Given the description of an element on the screen output the (x, y) to click on. 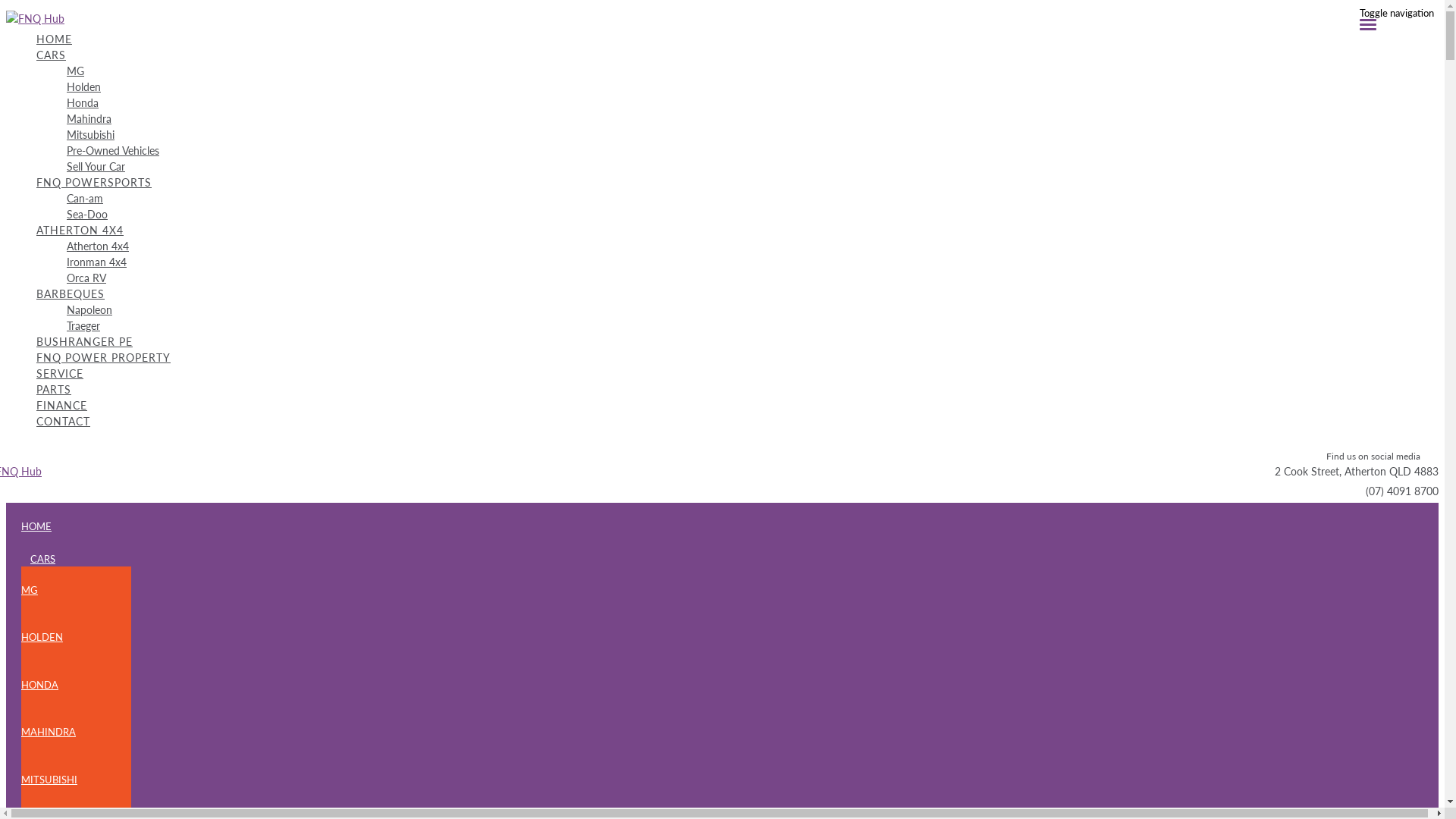
ATHERTON 4X4 Element type: text (79, 229)
Traeger Element type: text (752, 325)
Holden Element type: text (752, 86)
Honda Element type: text (752, 102)
HOME Element type: text (737, 39)
2 Cook Street, Atherton QLD 4883 Element type: text (1356, 470)
MITSUBISHI Element type: text (76, 779)
CARS Element type: text (50, 54)
FNQ POWERSPORTS Element type: text (93, 181)
BUSHRANGER PE Element type: text (737, 341)
BARBEQUES Element type: text (70, 293)
MAHINDRA Element type: text (76, 732)
Toggle navigation Element type: text (1396, 18)
Sell Your Car Element type: text (752, 166)
Can-am Element type: text (752, 198)
PARTS Element type: text (737, 389)
MG Element type: text (76, 590)
HONDA Element type: text (76, 684)
Ironman 4x4 Element type: text (752, 261)
Mahindra Element type: text (752, 118)
Pre-Owned Vehicles Element type: text (752, 150)
(07) 4091 8700 Element type: text (1401, 490)
HOLDEN Element type: text (76, 637)
Atherton 4x4 Element type: text (752, 246)
CARS Element type: text (42, 558)
SERVICE Element type: text (737, 373)
FNQ POWER PROPERTY Element type: text (737, 357)
Sea-Doo Element type: text (752, 214)
Mitsubishi Element type: text (752, 134)
FINANCE Element type: text (737, 405)
Napoleon Element type: text (752, 309)
HOME Element type: text (729, 526)
MG Element type: text (752, 70)
CONTACT Element type: text (737, 421)
Orca RV Element type: text (752, 277)
